Given the description of an element on the screen output the (x, y) to click on. 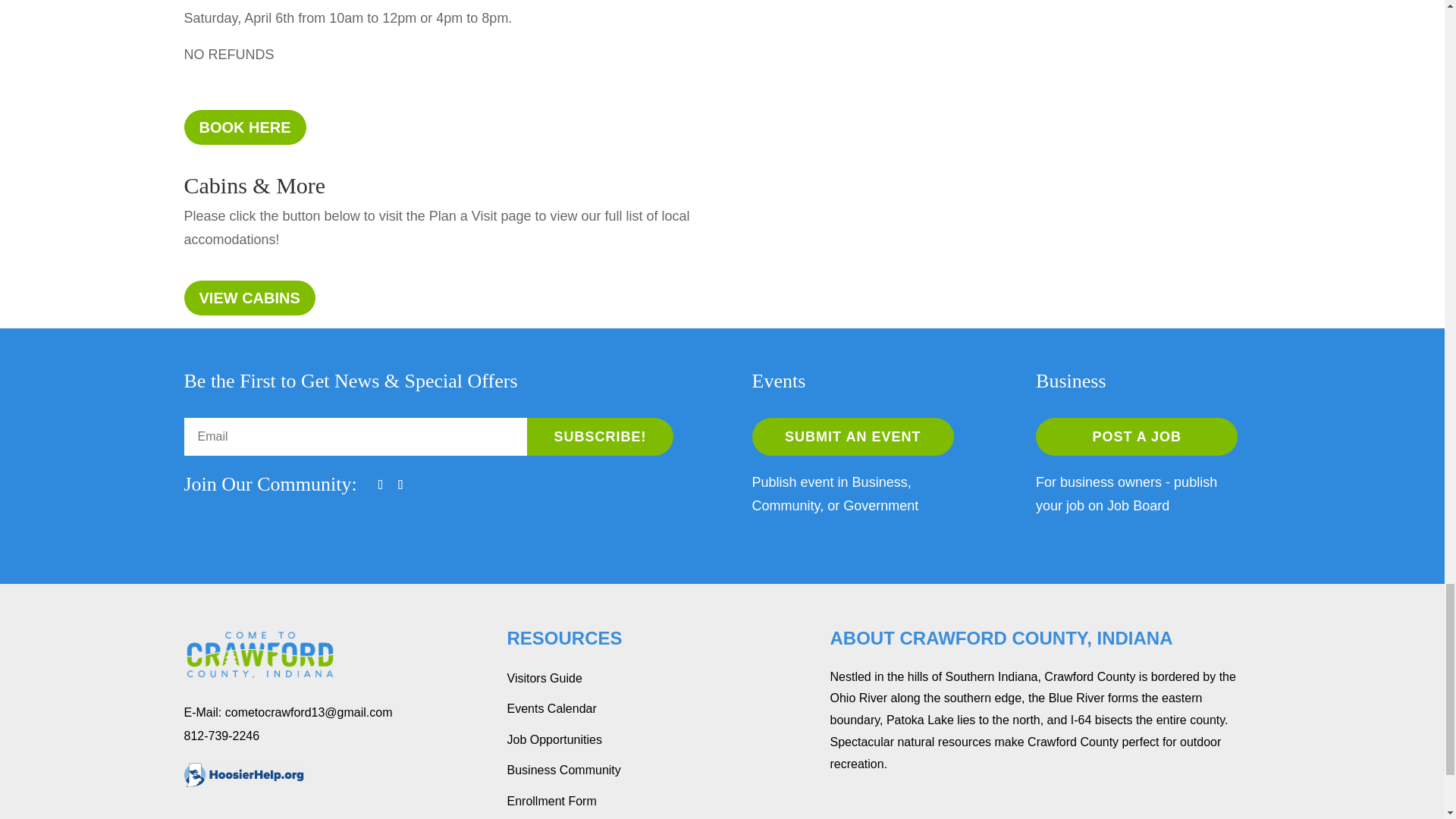
SUBMIT AN EVENT (852, 436)
VIEW CABINS (248, 297)
POST A JOB (1136, 436)
SUBSCRIBE! (600, 436)
BOOK HERE (244, 126)
